Given the description of an element on the screen output the (x, y) to click on. 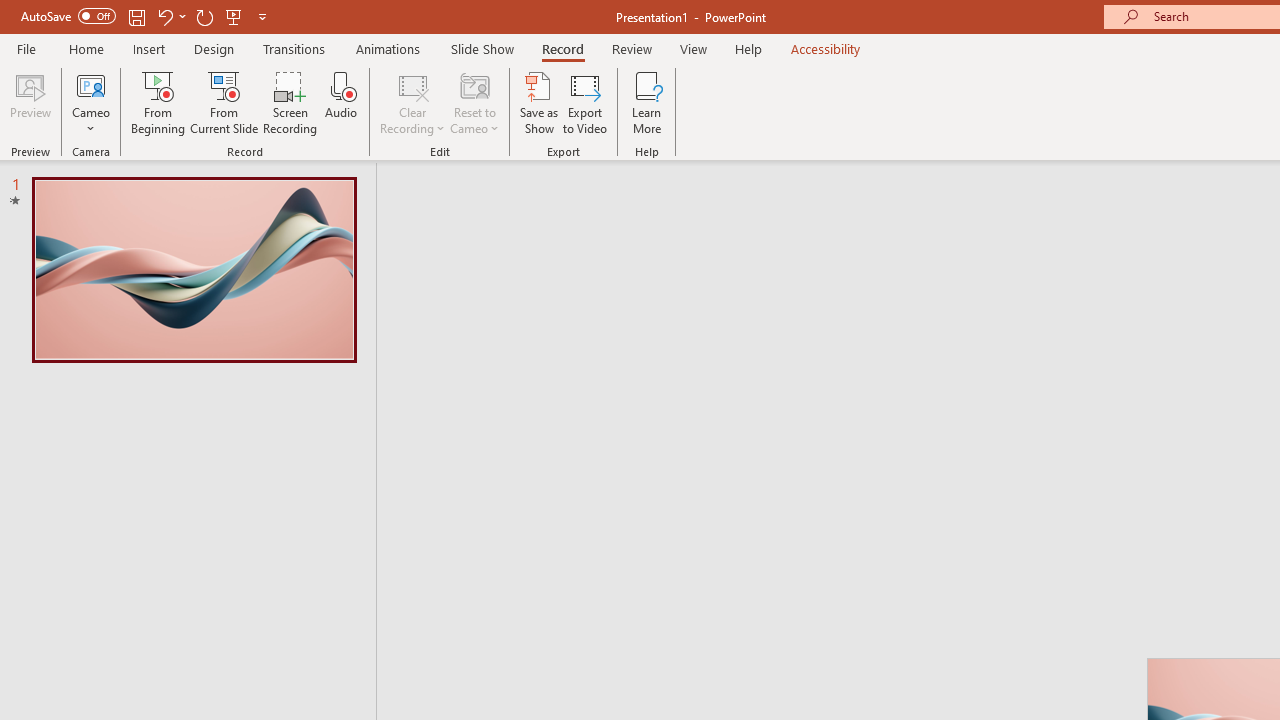
Reset to Cameo (474, 102)
Export to Video (585, 102)
